Given the description of an element on the screen output the (x, y) to click on. 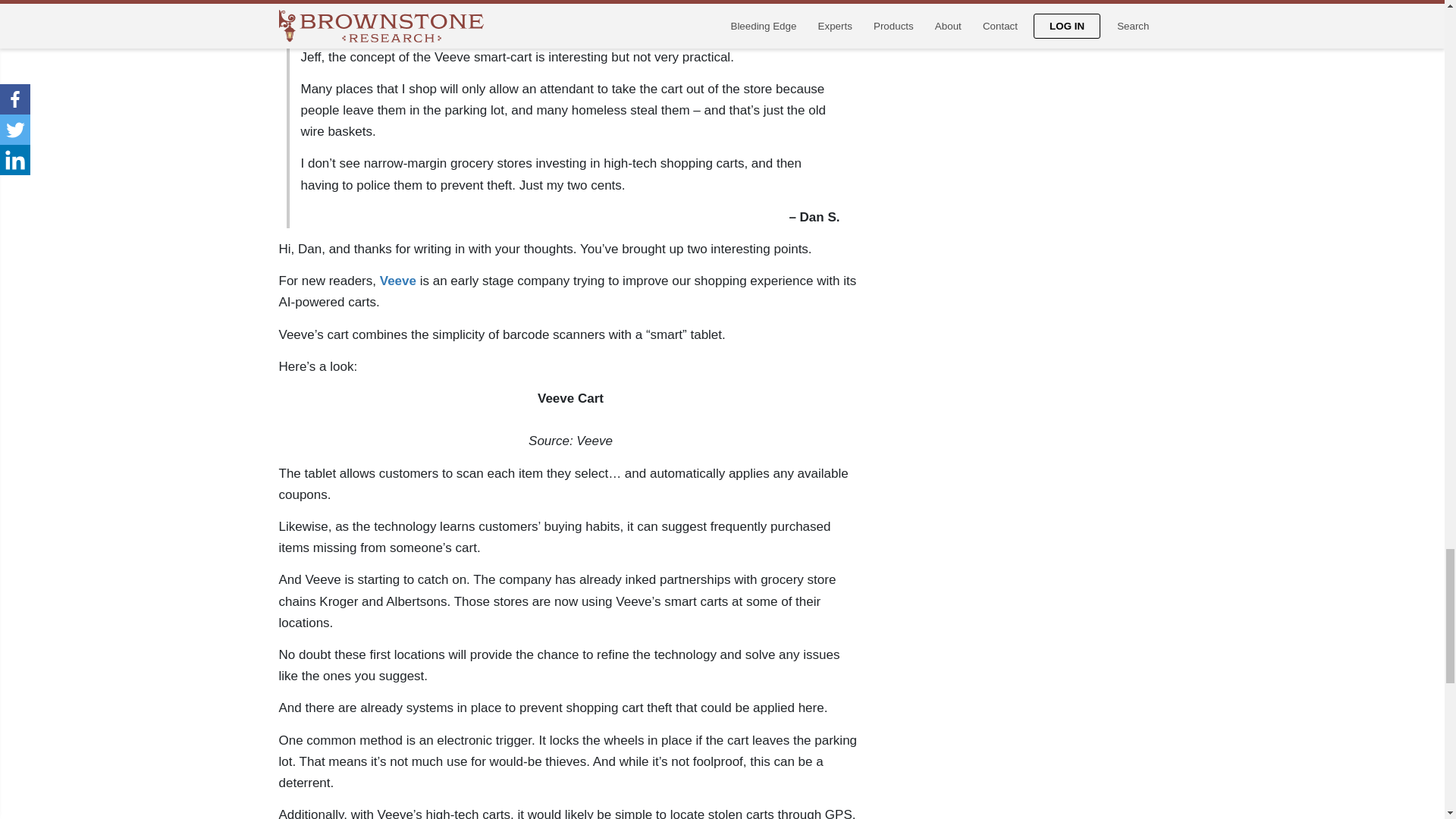
Veeve (398, 280)
